Given the description of an element on the screen output the (x, y) to click on. 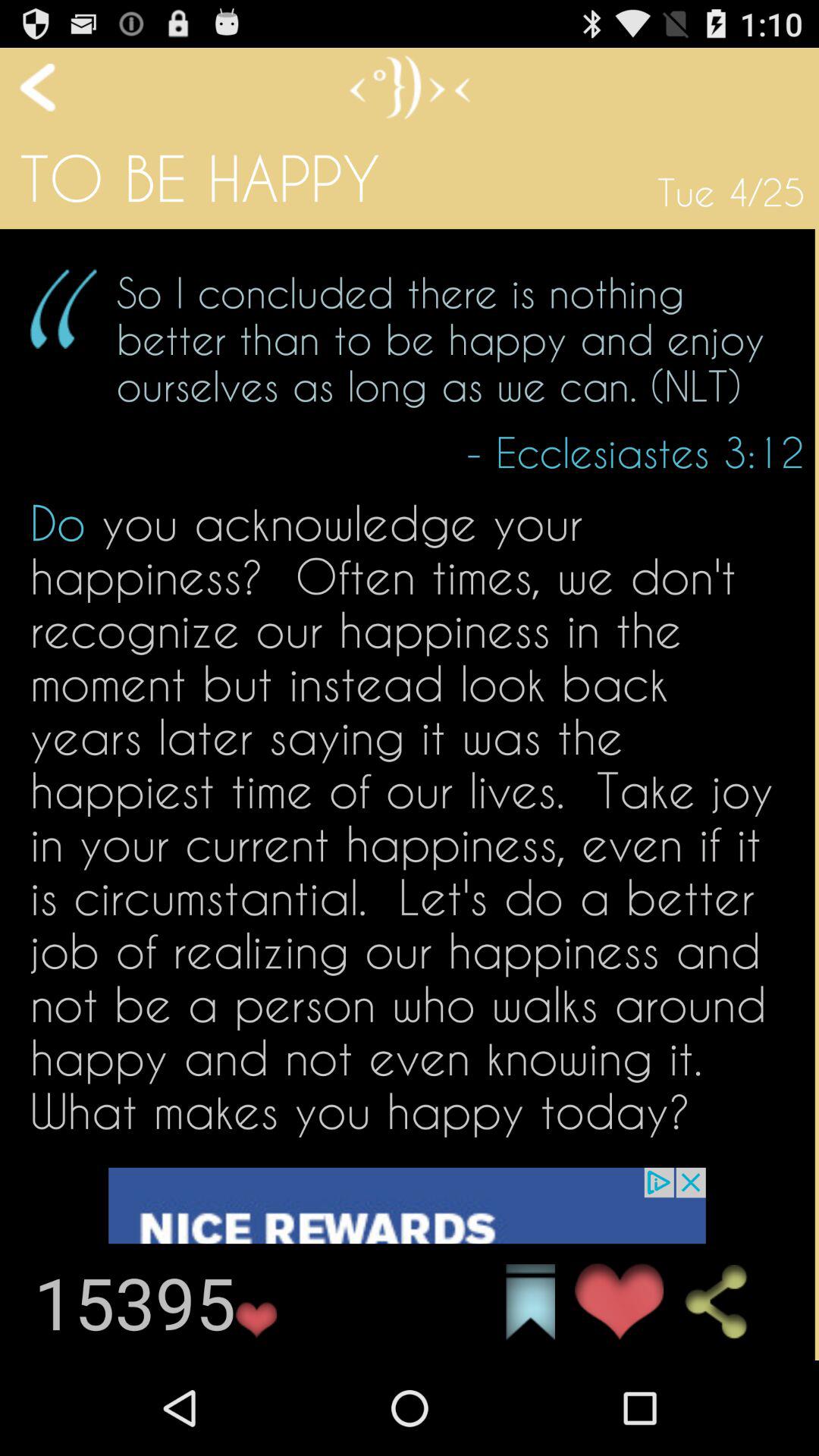
like button (406, 1263)
